Given the description of an element on the screen output the (x, y) to click on. 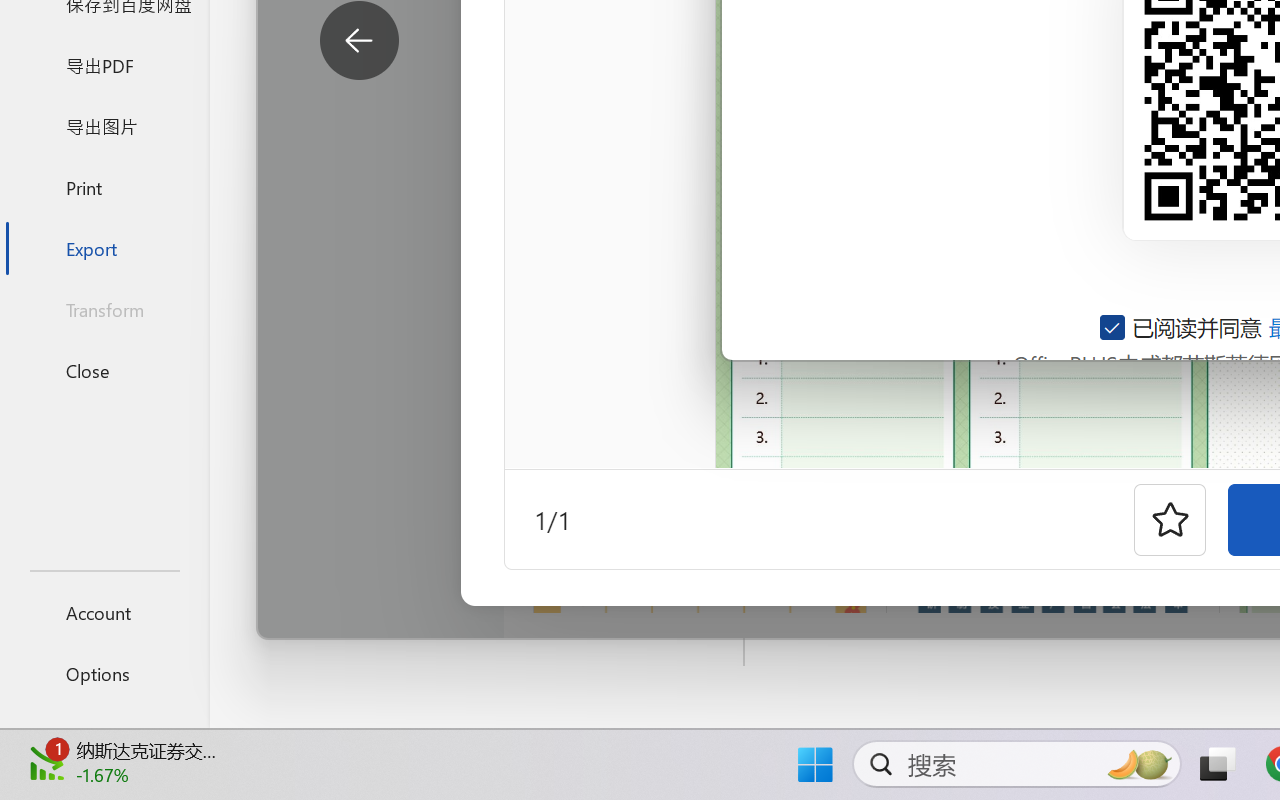
AutomationID: checkbox-14 (1114, 327)
